Given the description of an element on the screen output the (x, y) to click on. 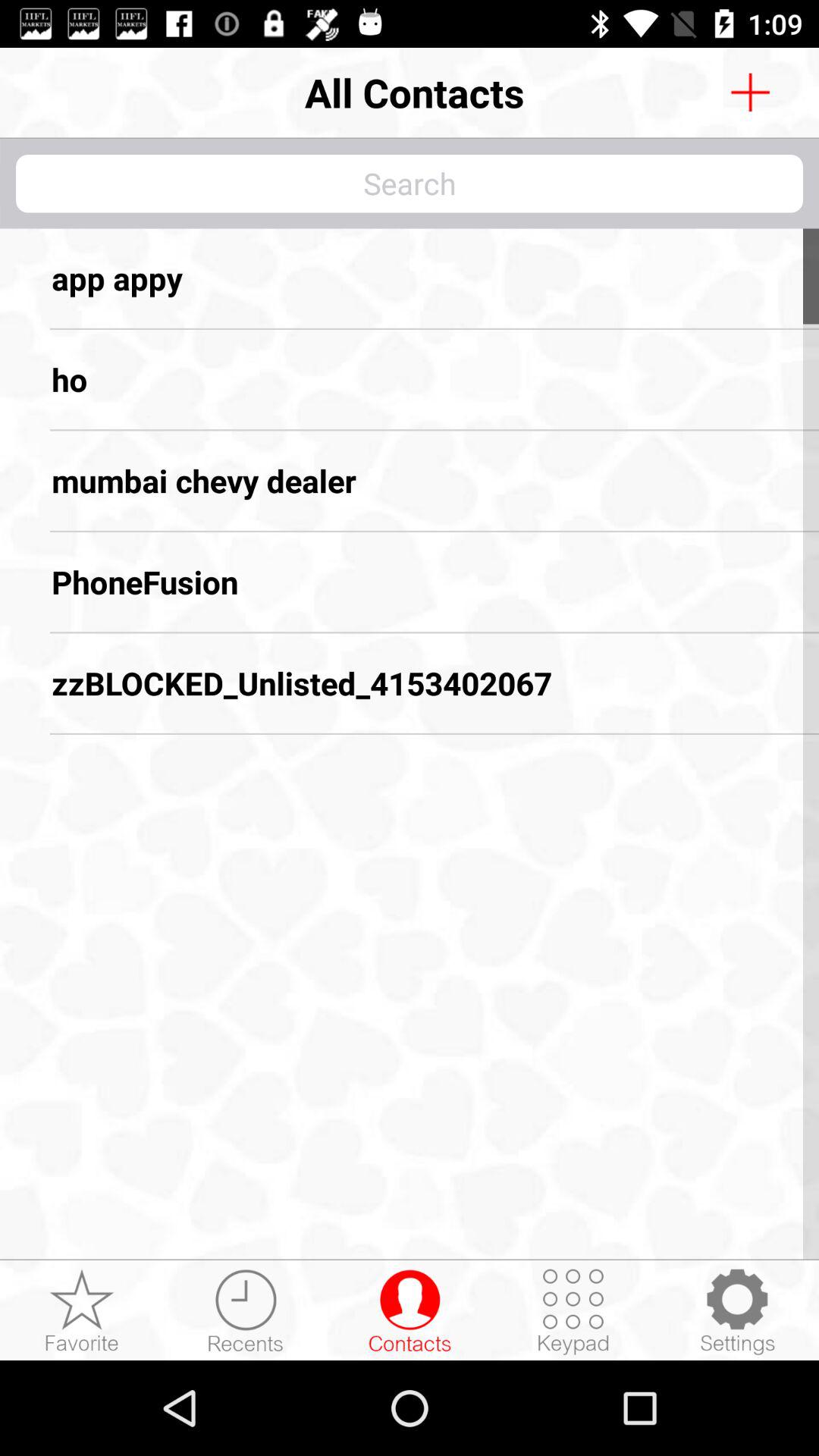
recents (245, 1311)
